Given the description of an element on the screen output the (x, y) to click on. 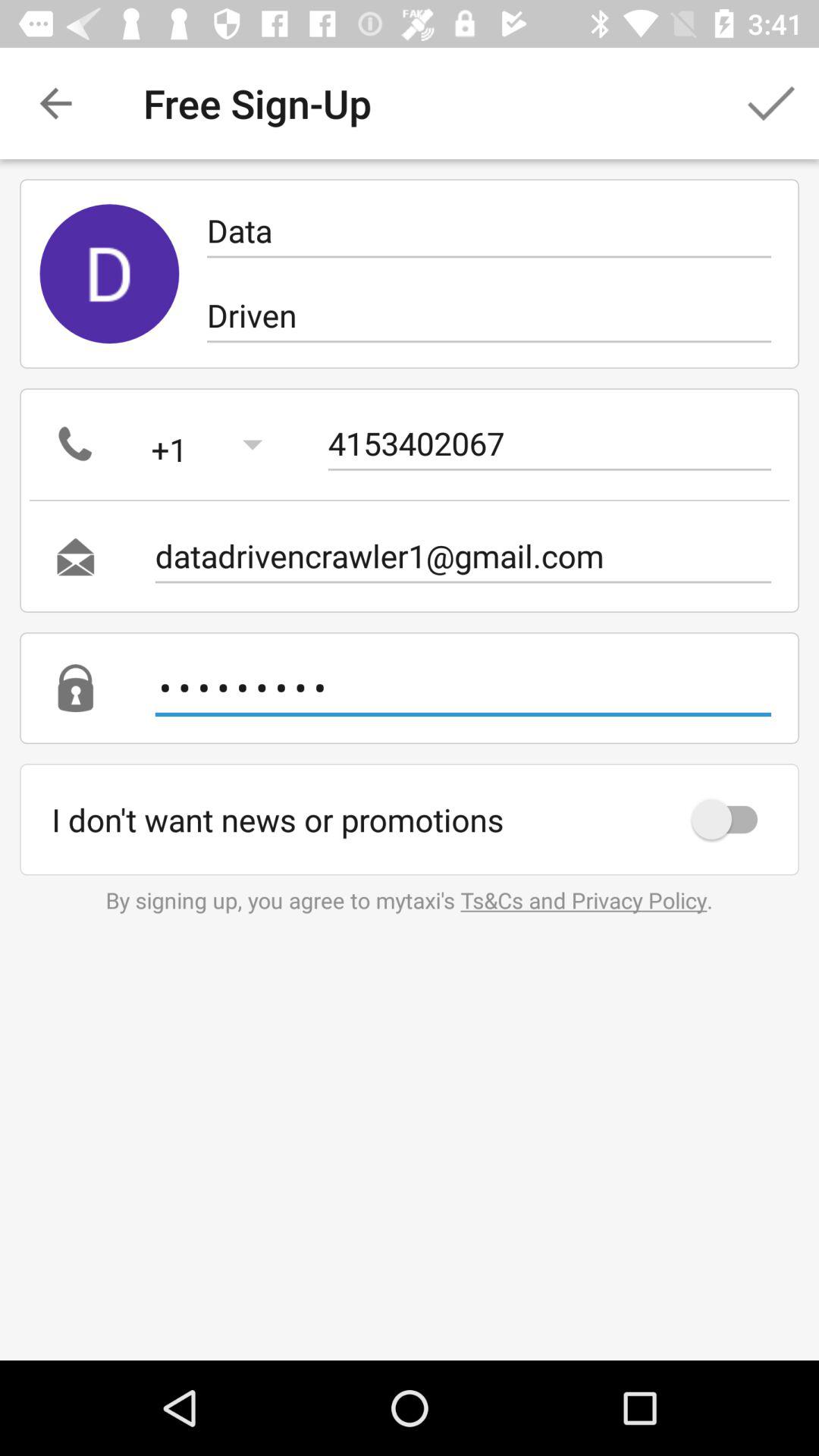
select item below the driven icon (549, 443)
